Given the description of an element on the screen output the (x, y) to click on. 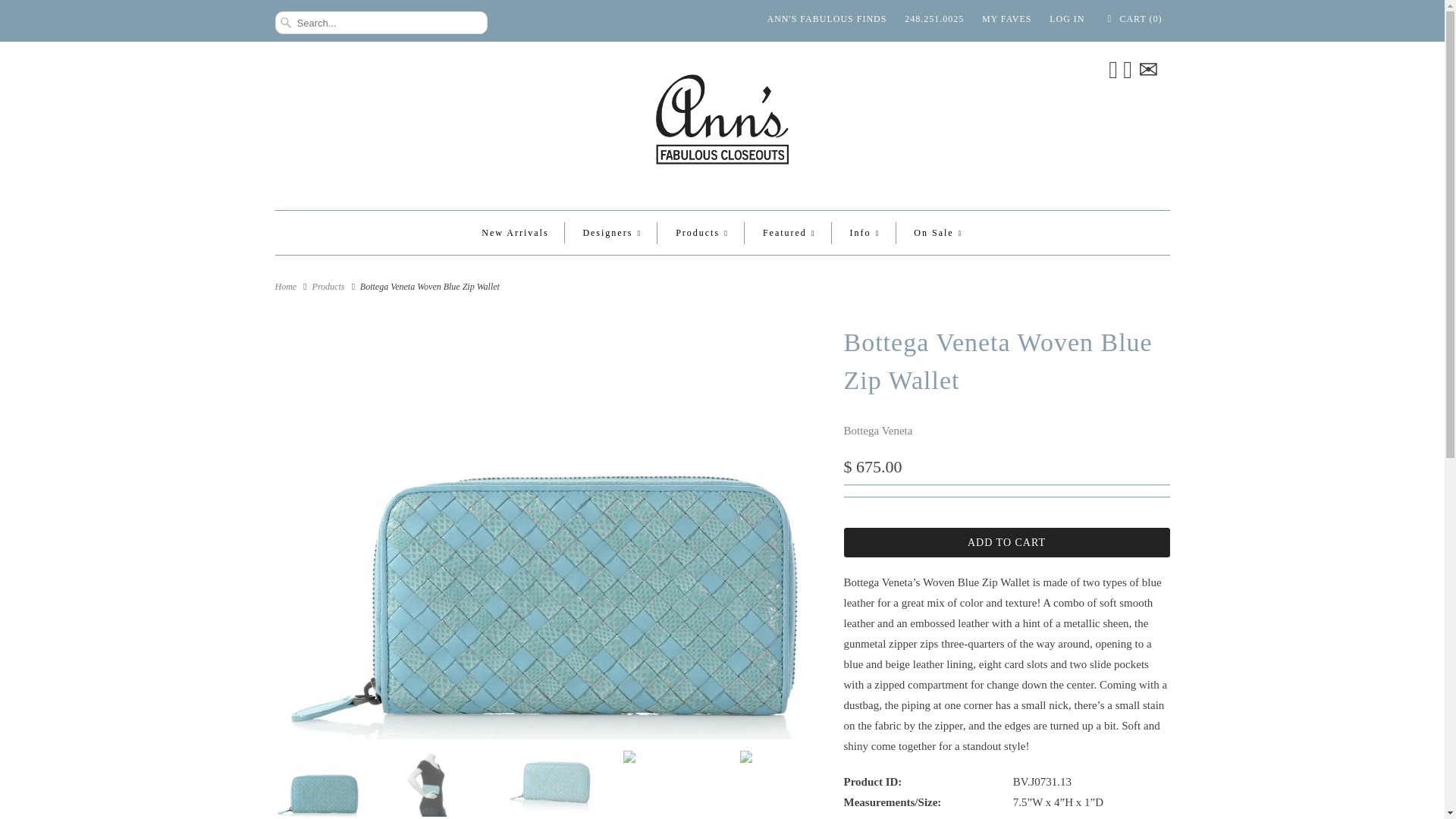
Bottega Veneta (877, 430)
248.251.0025 (933, 18)
Ann's Fabulous Closeouts (722, 123)
ANN'S FABULOUS FINDS (826, 18)
Ann's Fabulous Closeouts (286, 286)
MY FAVES (1005, 18)
Products (329, 286)
LOG IN (1066, 18)
